Given the description of an element on the screen output the (x, y) to click on. 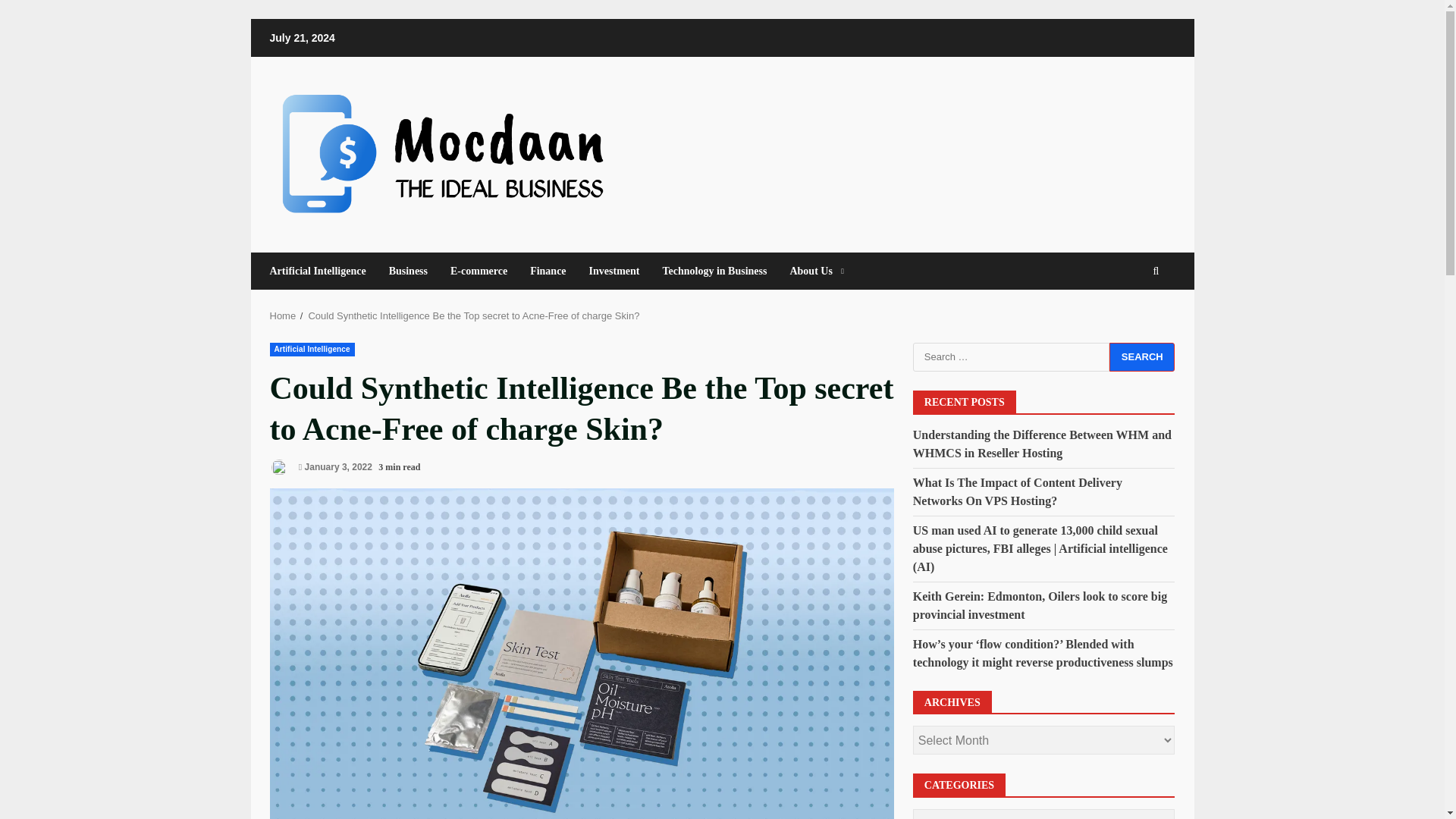
Home (283, 315)
Search (1141, 357)
Search (1141, 357)
Investment (614, 270)
About Us (810, 270)
Technology in Business (713, 270)
E-commerce (478, 270)
Finance (547, 270)
Business (408, 270)
Artificial Intelligence (323, 270)
Search (1128, 317)
Artificial Intelligence (312, 349)
